Given the description of an element on the screen output the (x, y) to click on. 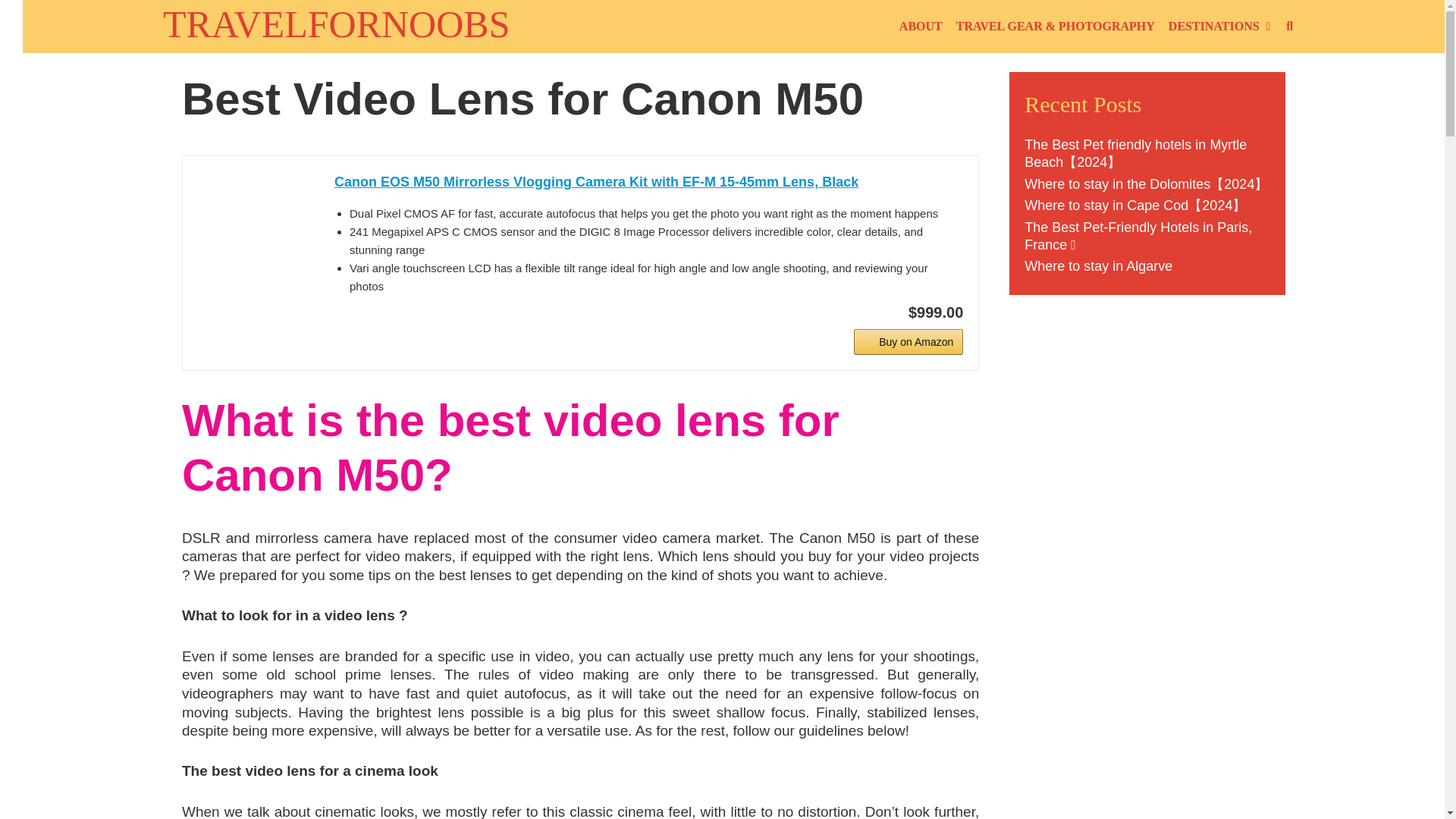
Buy on Amazon (907, 341)
SEARCH (1289, 26)
ABOUT (920, 26)
TRAVELFORNOOBS (337, 24)
Buy on Amazon (907, 341)
Search (206, 26)
Search (1289, 26)
DESTINATIONS (1218, 26)
